Given the description of an element on the screen output the (x, y) to click on. 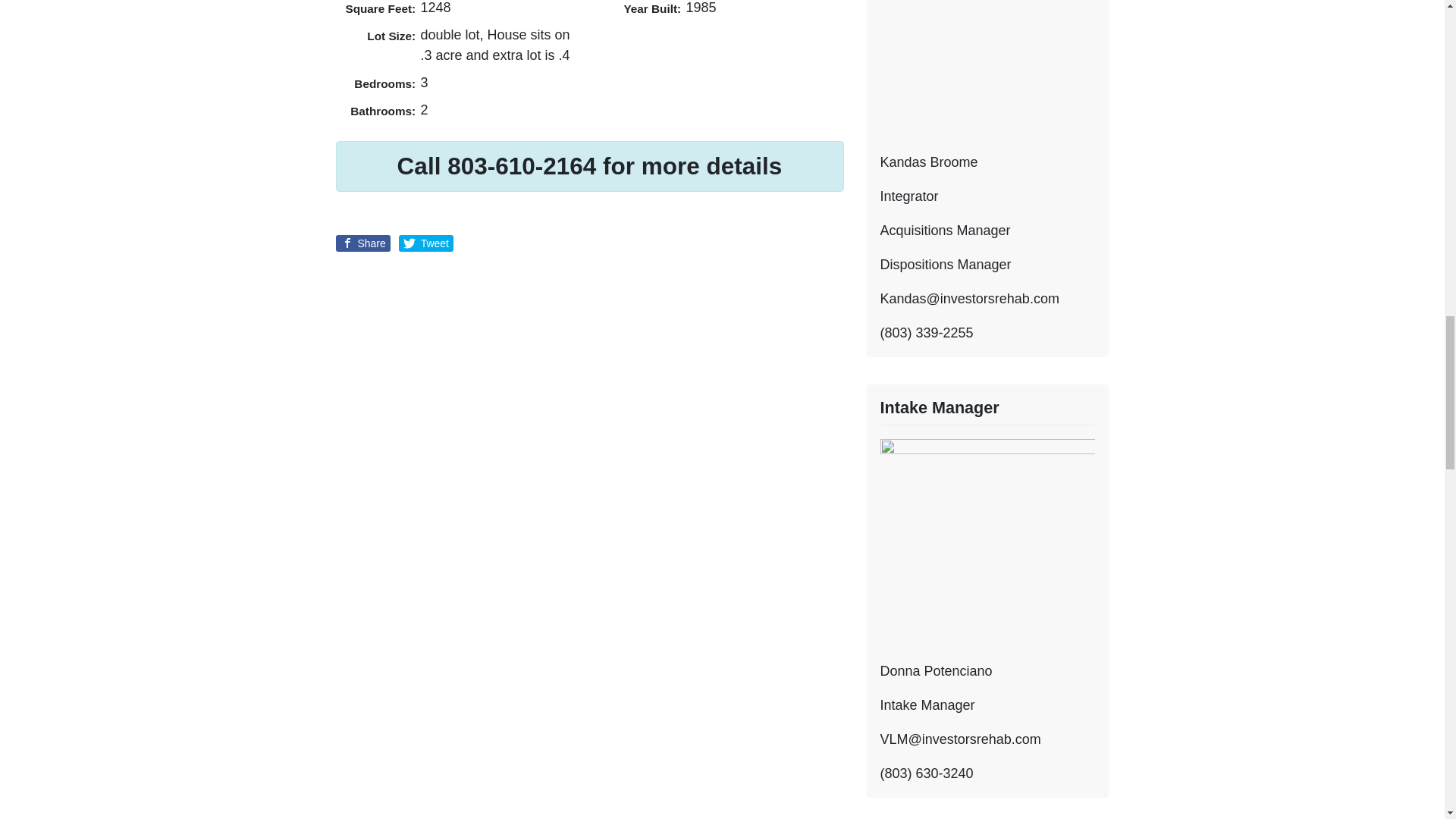
Share (362, 243)
Tweet (425, 243)
Share on Twitter (425, 243)
Share on Facebook (362, 243)
